Given the description of an element on the screen output the (x, y) to click on. 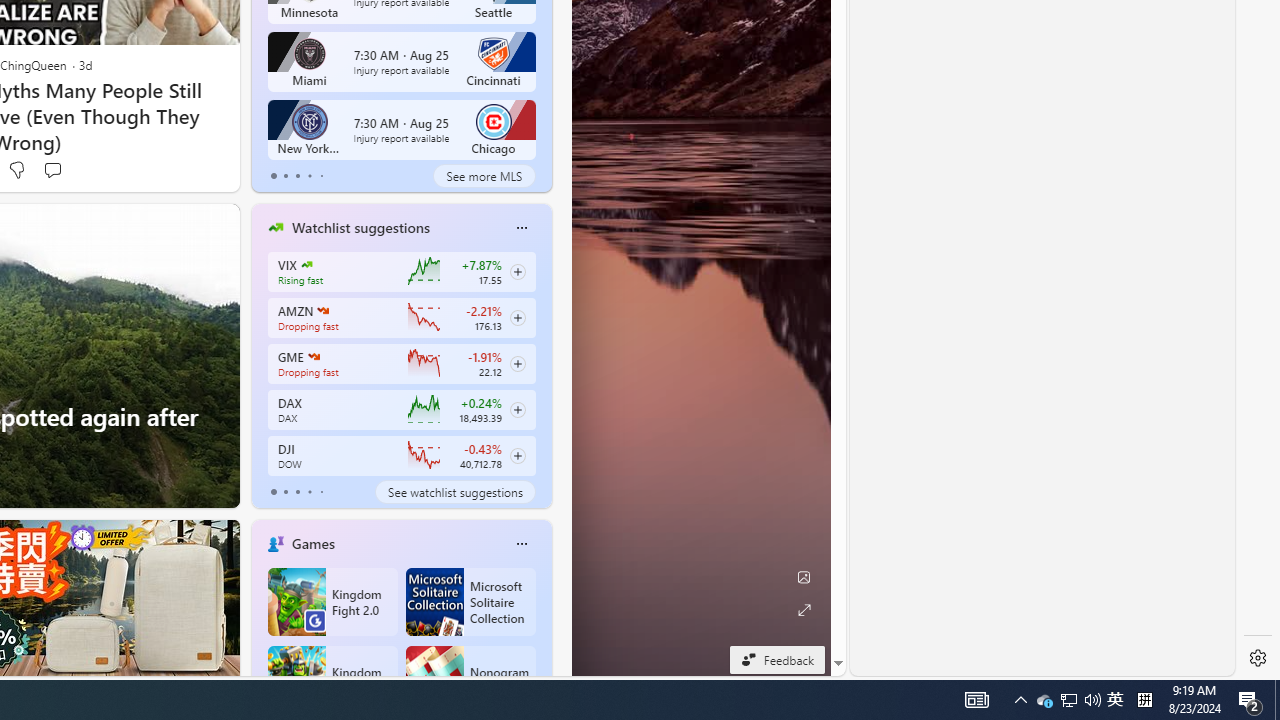
Edit Background (803, 577)
Class: icon-img (521, 543)
See more MLS (484, 175)
GAMESTOP CORP. (313, 356)
tab-1 (285, 491)
Watchlist suggestions (360, 227)
Expand background (803, 610)
AMAZON.COM, INC. (322, 310)
Kingdom Fight 2.0 (332, 601)
See watchlist suggestions (454, 491)
